Given the description of an element on the screen output the (x, y) to click on. 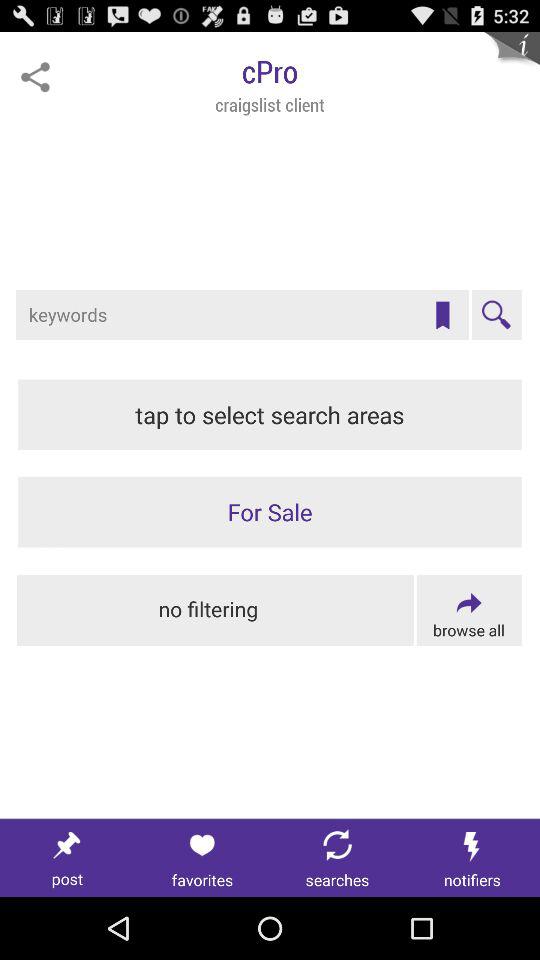
go to searches tab (337, 858)
